Given the description of an element on the screen output the (x, y) to click on. 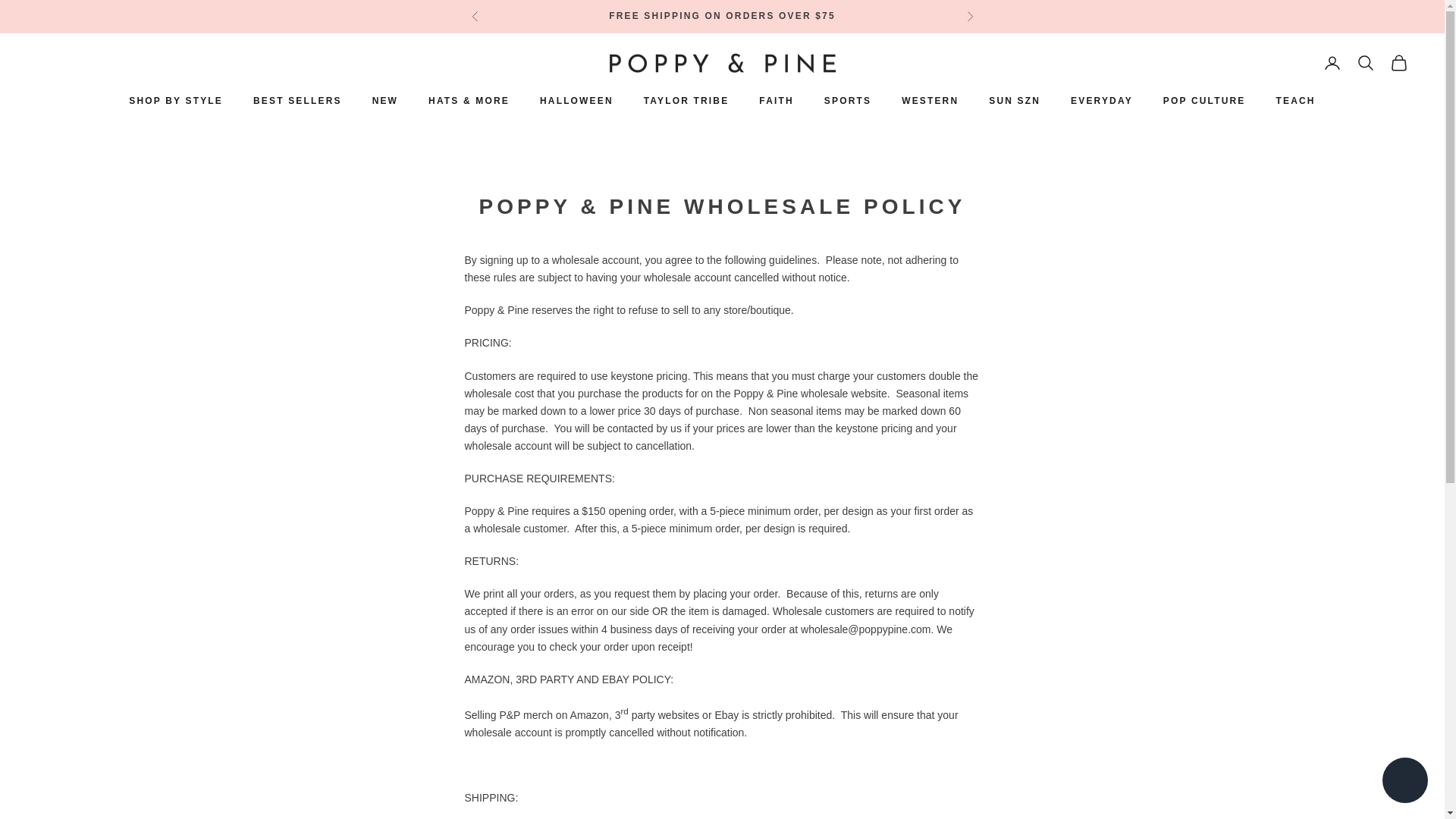
Shopify online store chat (1404, 781)
BEST SELLERS (297, 100)
HALLOWEEN (576, 100)
NEW (384, 100)
Next (968, 16)
Previous (474, 16)
